Given the description of an element on the screen output the (x, y) to click on. 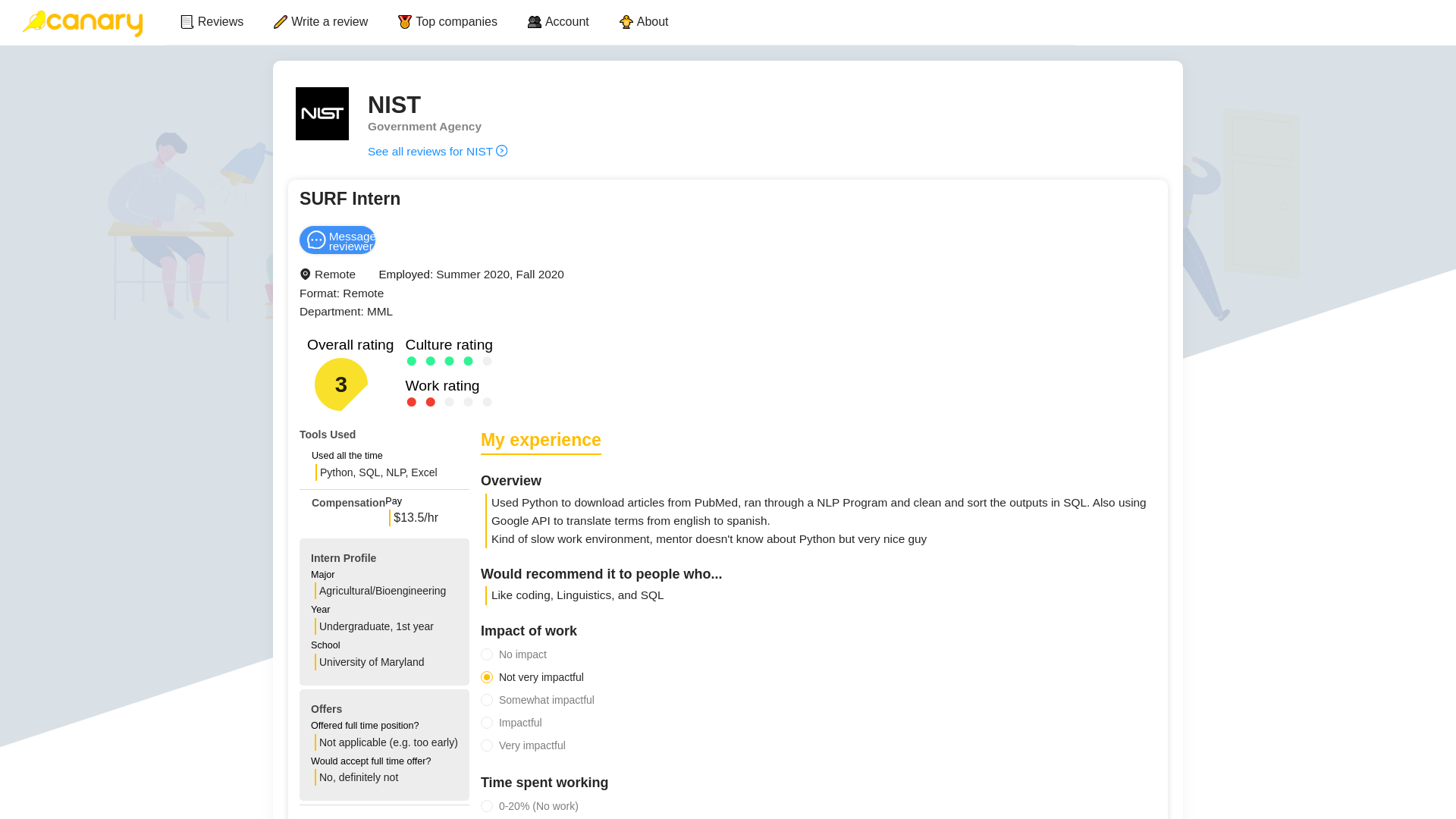
See all reviews for NIST (437, 151)
Write a review (320, 21)
About (644, 21)
Top companies (447, 21)
Reviews (211, 21)
